Given the description of an element on the screen output the (x, y) to click on. 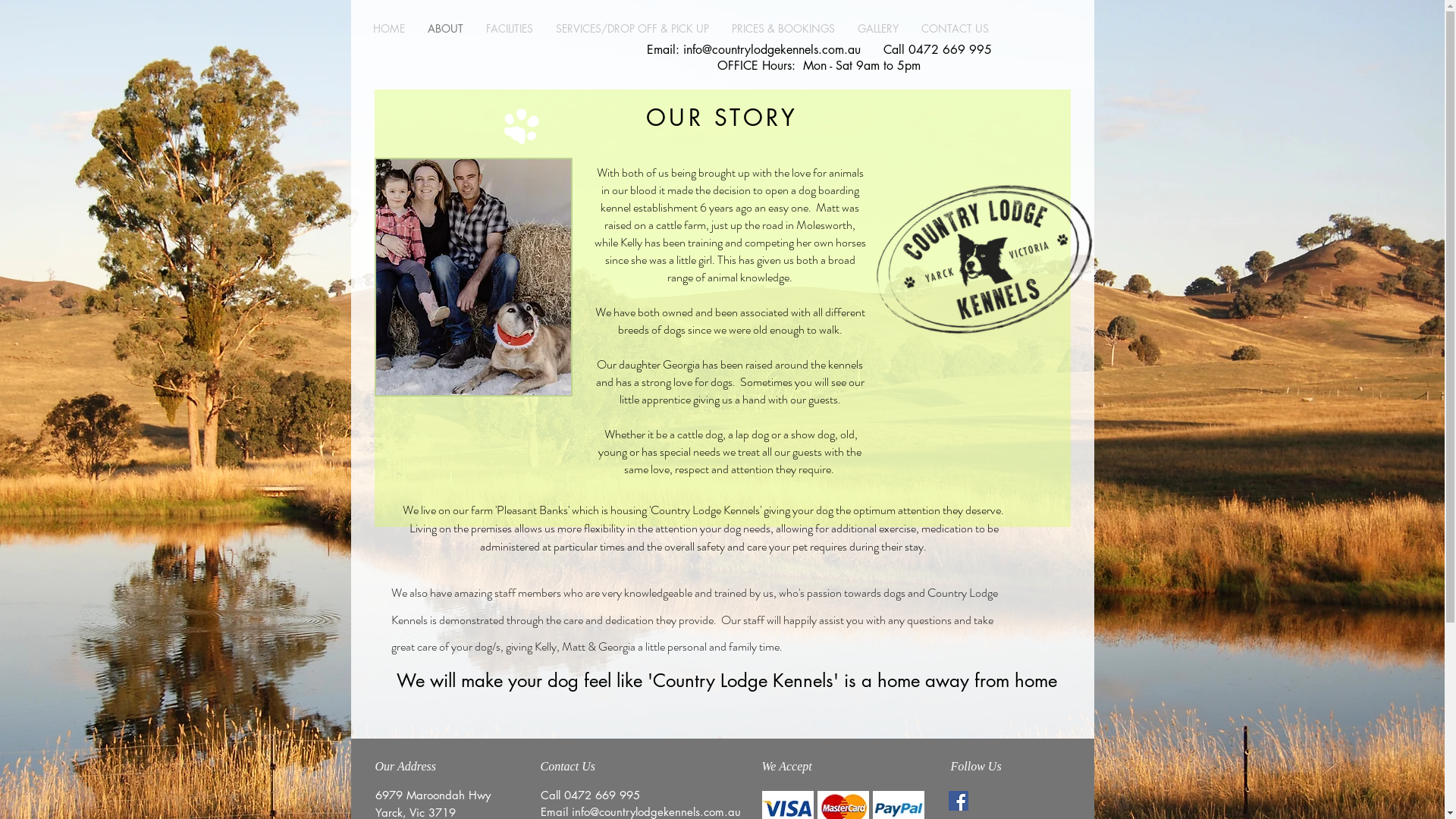
FACILITIES Element type: text (509, 28)
GALLERY Element type: text (878, 28)
ABOUT Element type: text (445, 28)
HOME Element type: text (388, 28)
CONTACT US Element type: text (955, 28)
info@countrylodgekennels.com.au Element type: text (770, 49)
kelmatt.jpg Element type: hover (473, 276)
PRICES & BOOKINGS Element type: text (783, 28)
SERVICES/DROP OFF & PICK UP Element type: text (632, 28)
